Given the description of an element on the screen output the (x, y) to click on. 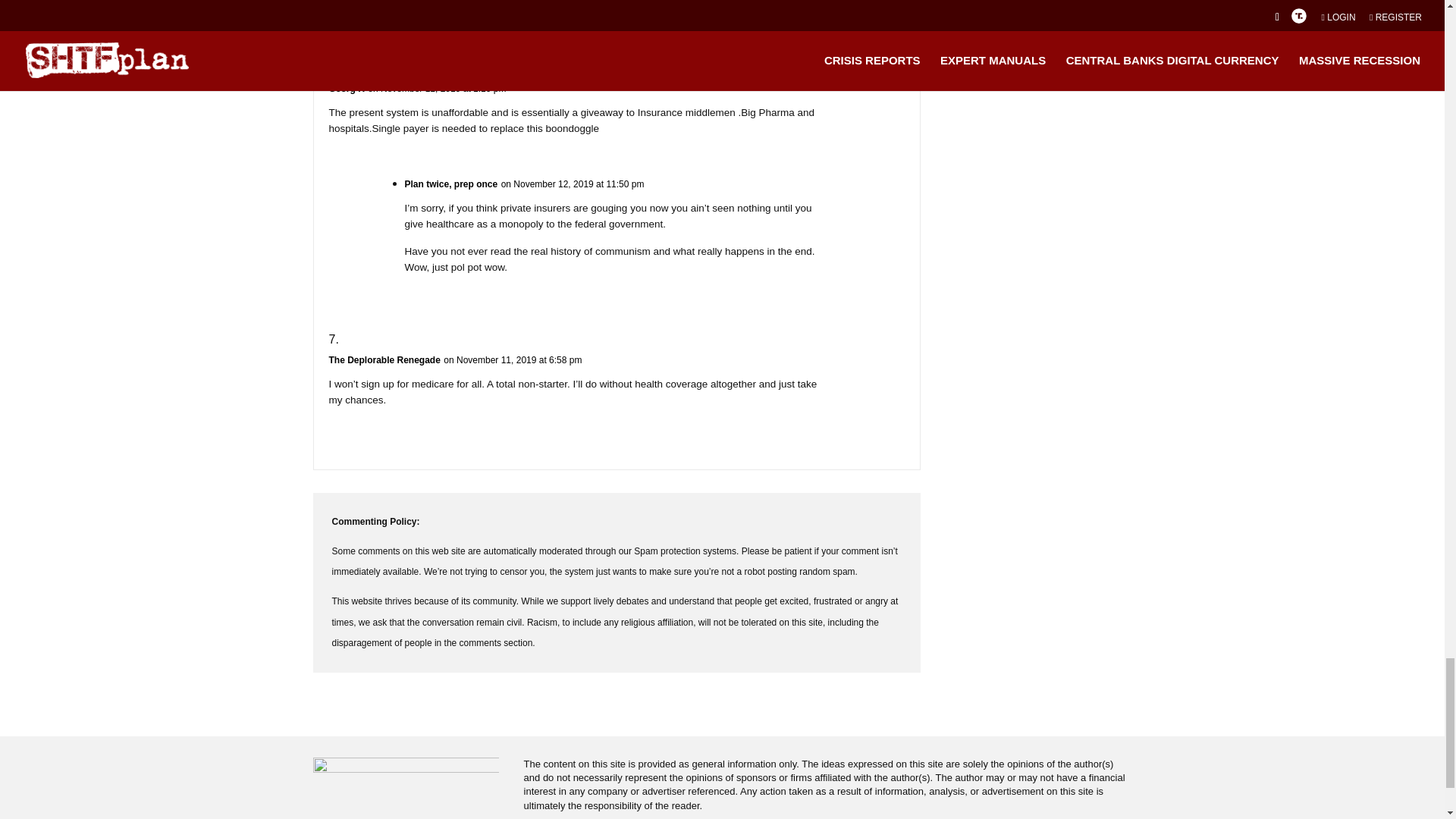
SFP-logo (406, 777)
